Given the description of an element on the screen output the (x, y) to click on. 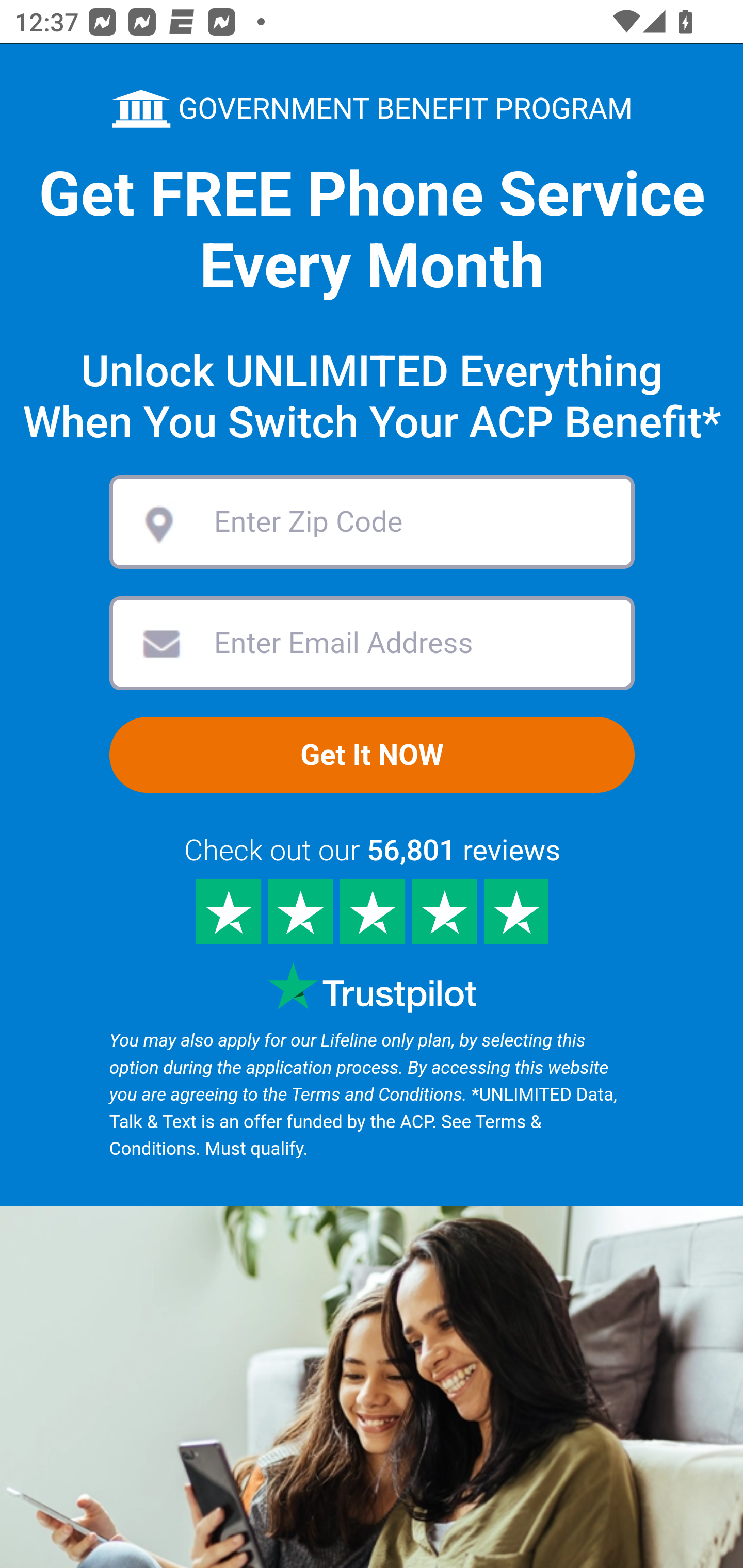
Get It NOW (372, 757)
4.8 out of five star rating on Trustpilot (371, 913)
Trustpilot (372, 988)
